Given the description of an element on the screen output the (x, y) to click on. 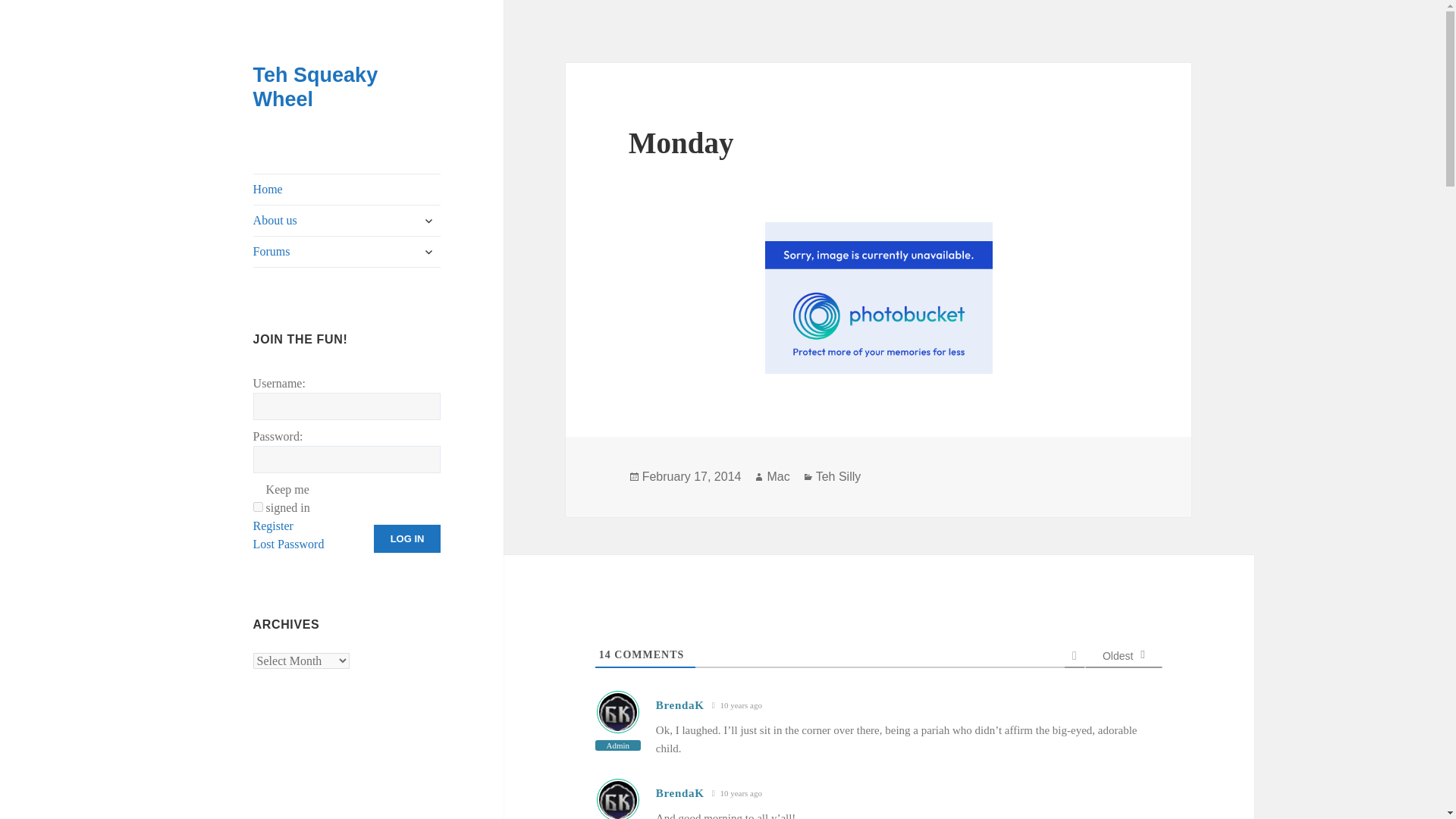
Register (273, 525)
14 (604, 654)
forever (258, 506)
February 17, 2014 7:08 am (736, 793)
Teh Squeaky Wheel (315, 86)
Forums (347, 251)
expand child menu (428, 251)
February 17, 2014 6:49 am (736, 705)
February 17, 2014 (691, 477)
BrendaK (680, 705)
Register (273, 525)
Teh Silly (838, 477)
expand child menu (428, 220)
Mac (778, 477)
Home (347, 189)
